Given the description of an element on the screen output the (x, y) to click on. 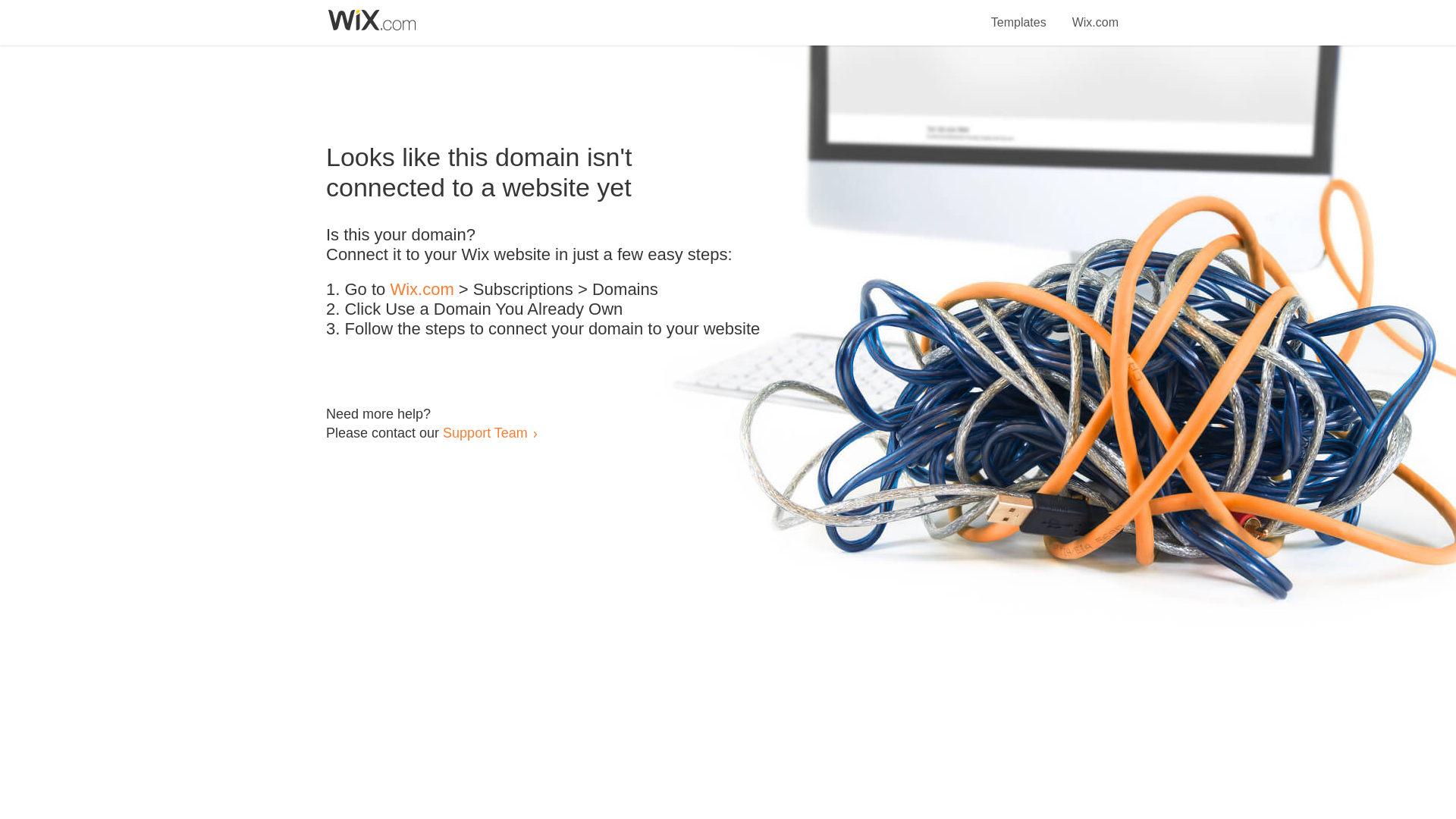
Wix.com (421, 289)
Templates (1018, 14)
Wix.com (1095, 14)
Support Team (484, 432)
